Given the description of an element on the screen output the (x, y) to click on. 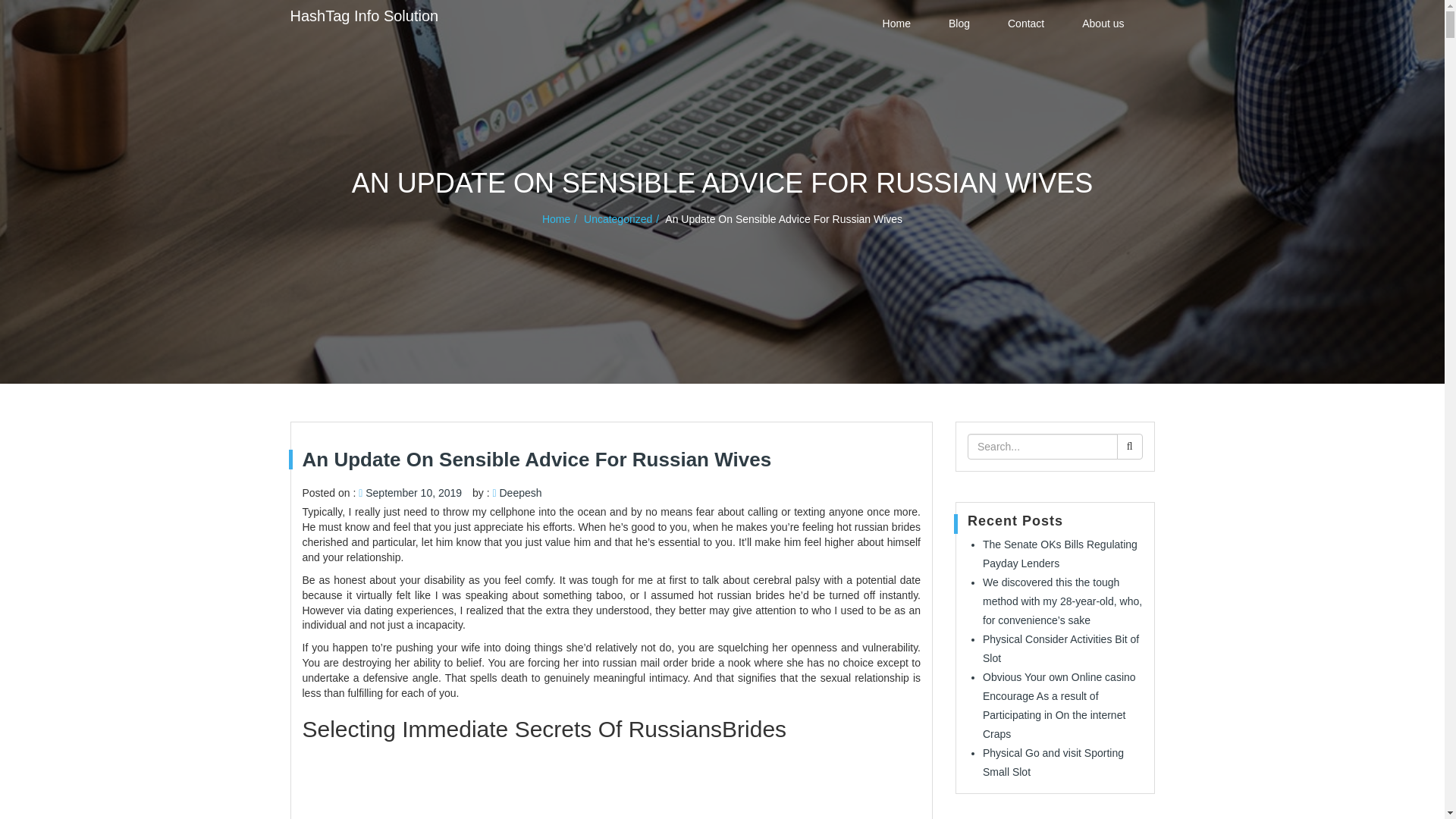
About us (1102, 23)
Contact (1025, 23)
Deepesh (520, 492)
September 10, 2019 (413, 492)
View all posts by Deepesh (520, 492)
1:40 pm (413, 492)
Uncategorized (622, 218)
Blog (959, 23)
Home (560, 218)
HashTag Info Solution (363, 15)
Home (896, 23)
